Given the description of an element on the screen output the (x, y) to click on. 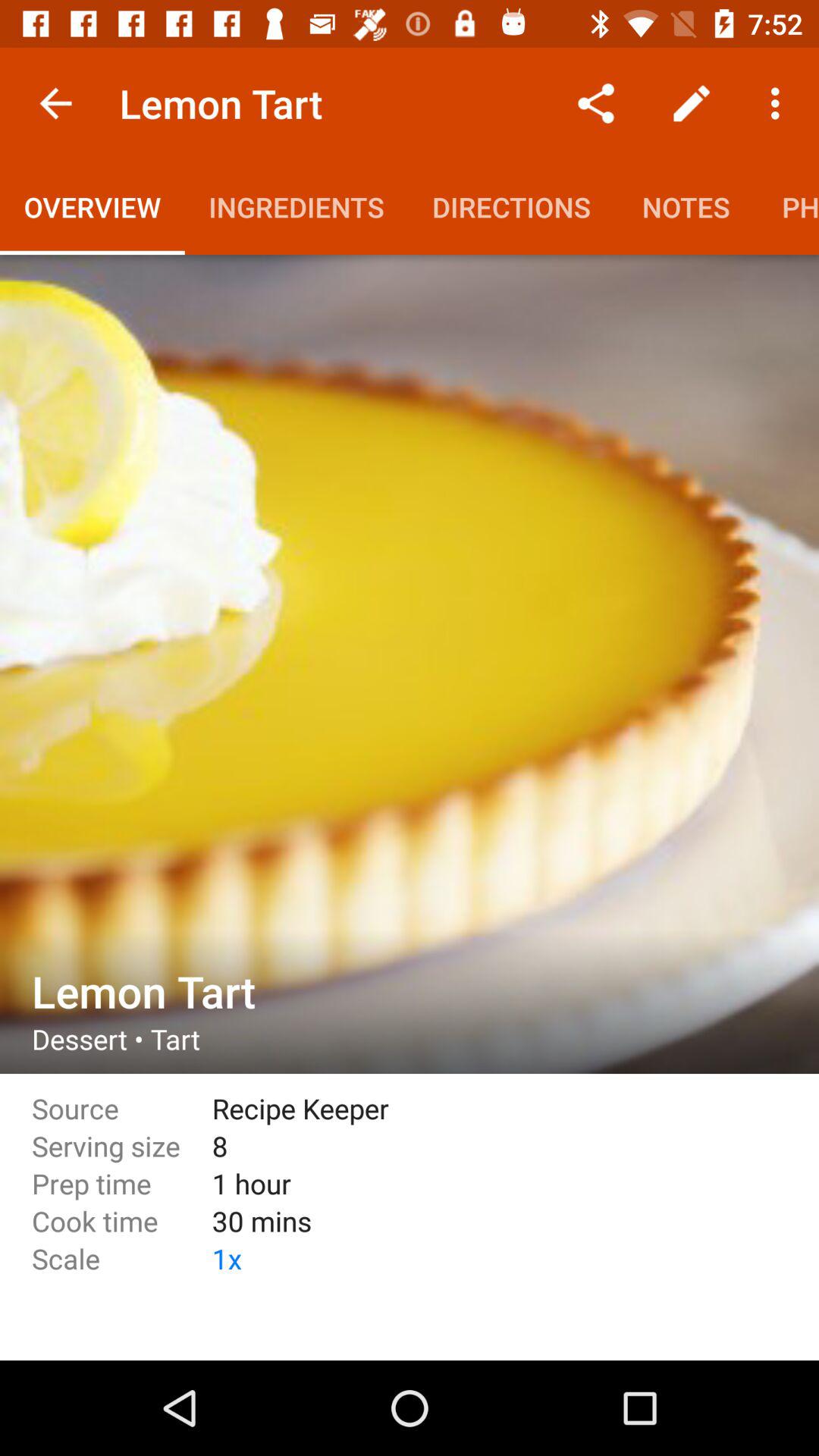
click the item below the 30 mins (483, 1258)
